Given the description of an element on the screen output the (x, y) to click on. 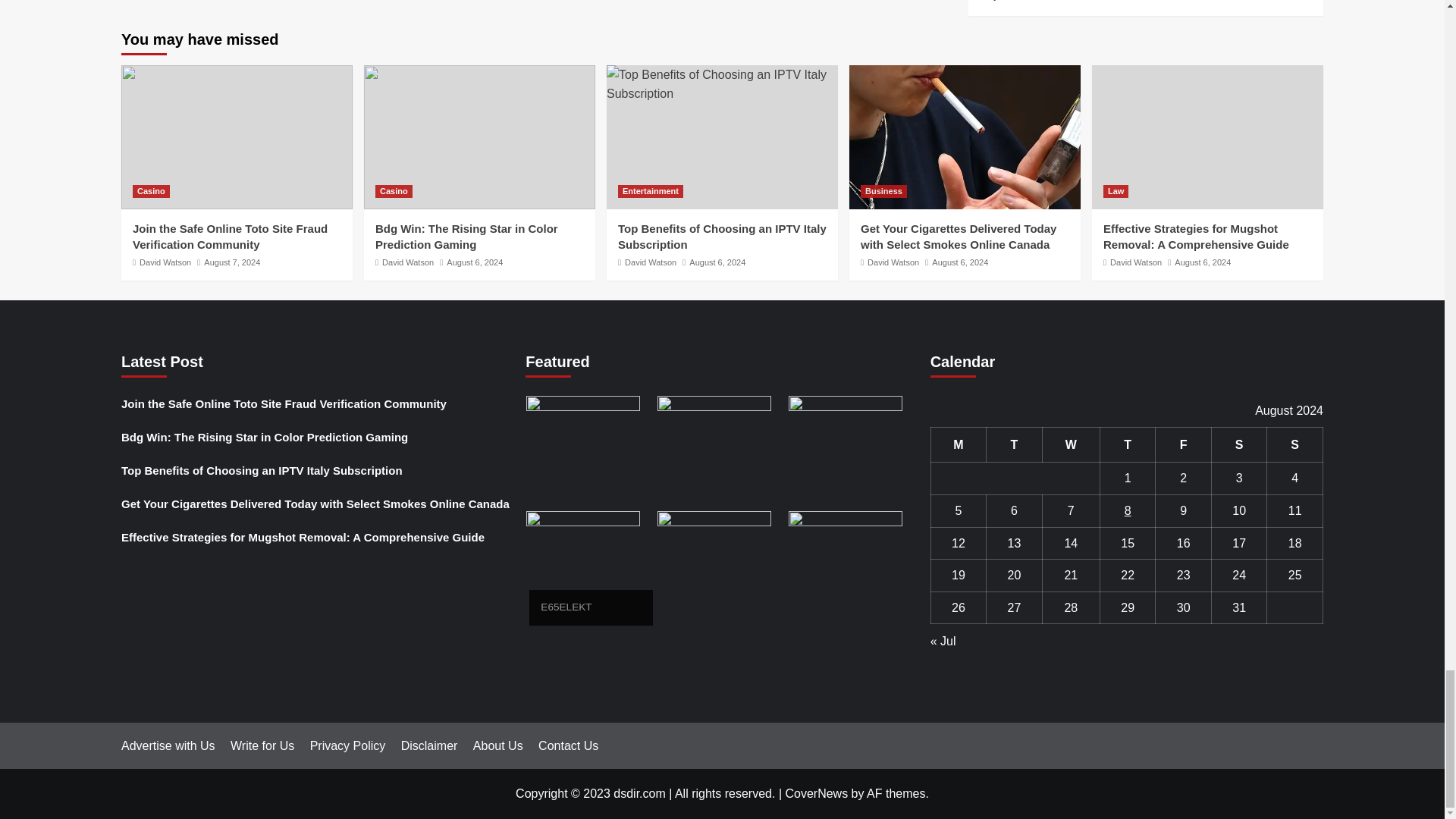
Monday (958, 444)
Sunday (1294, 444)
Thursday (1127, 444)
Wednesday (1070, 444)
Friday (1183, 444)
Saturday (1238, 444)
Tuesday (1014, 444)
